Given the description of an element on the screen output the (x, y) to click on. 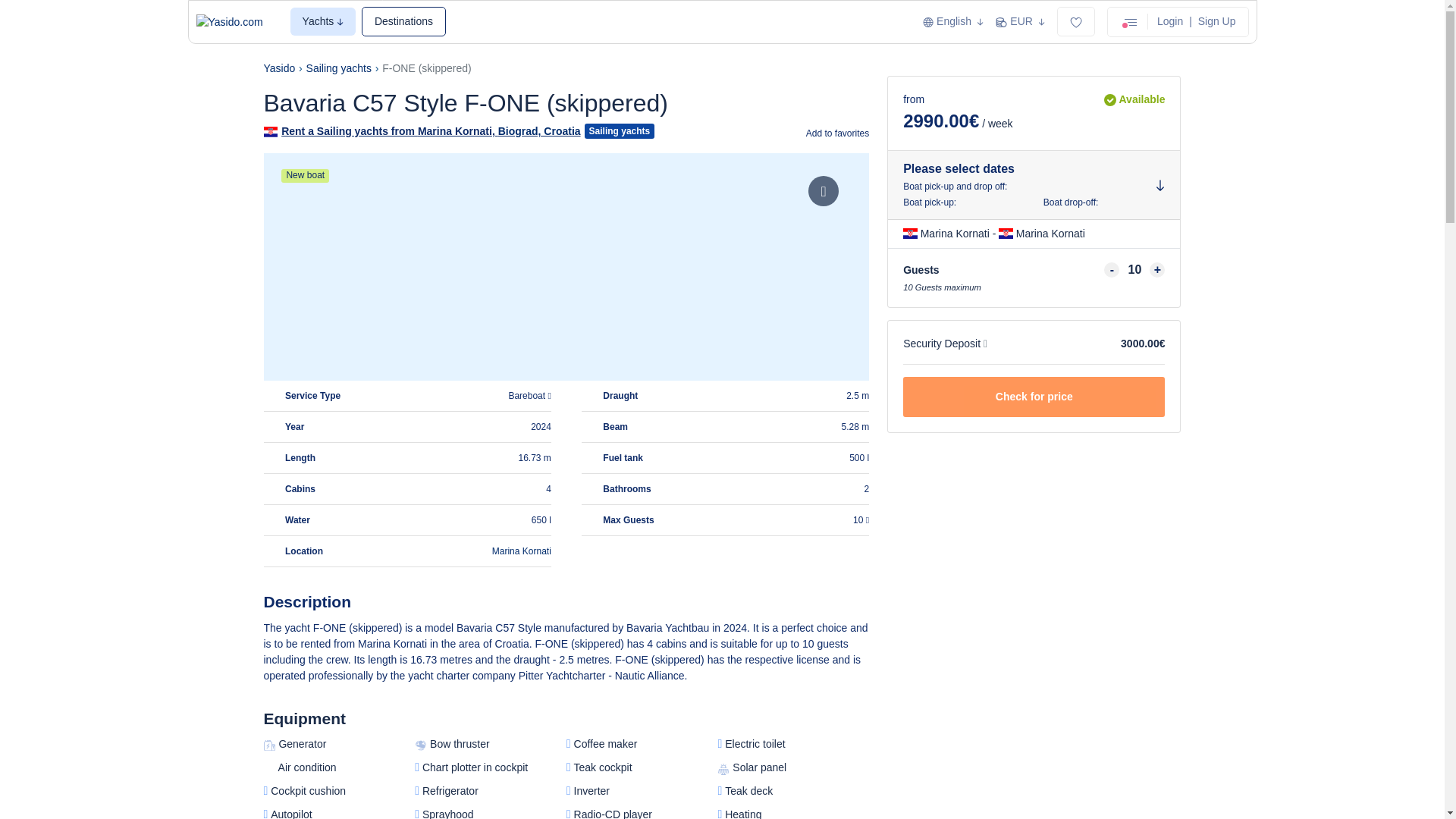
English (953, 21)
Destinations (403, 21)
Sailing yachts (338, 68)
EUR (1020, 21)
Including the skipper and crew (861, 520)
Yasido (279, 68)
Biograd, Croatia (538, 131)
